Given the description of an element on the screen output the (x, y) to click on. 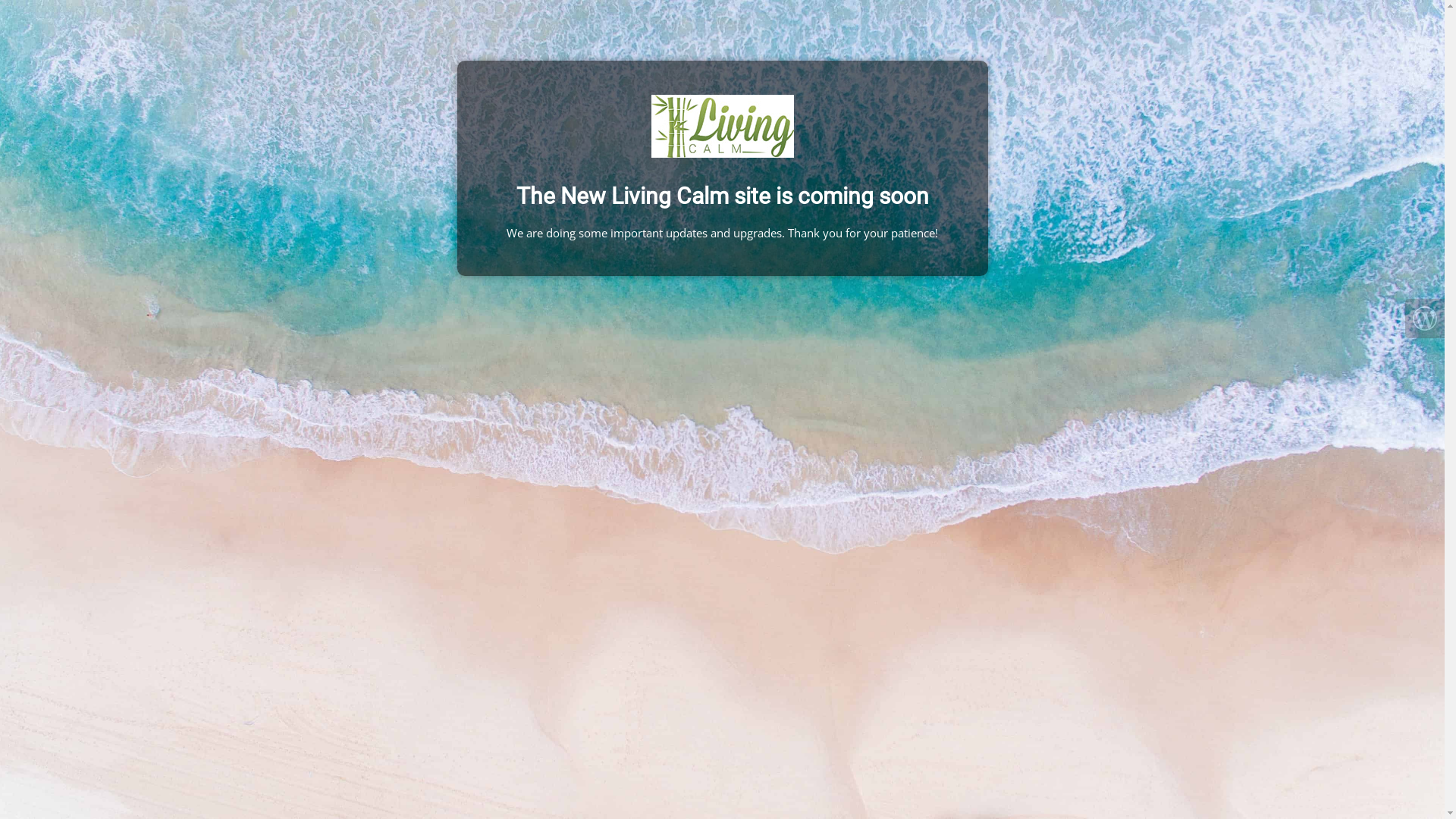
Log in to WordPress admin Element type: hover (1424, 318)
Log in to WordPress admin Element type: hover (1424, 318)
Living Calm Element type: hover (721, 125)
